Given the description of an element on the screen output the (x, y) to click on. 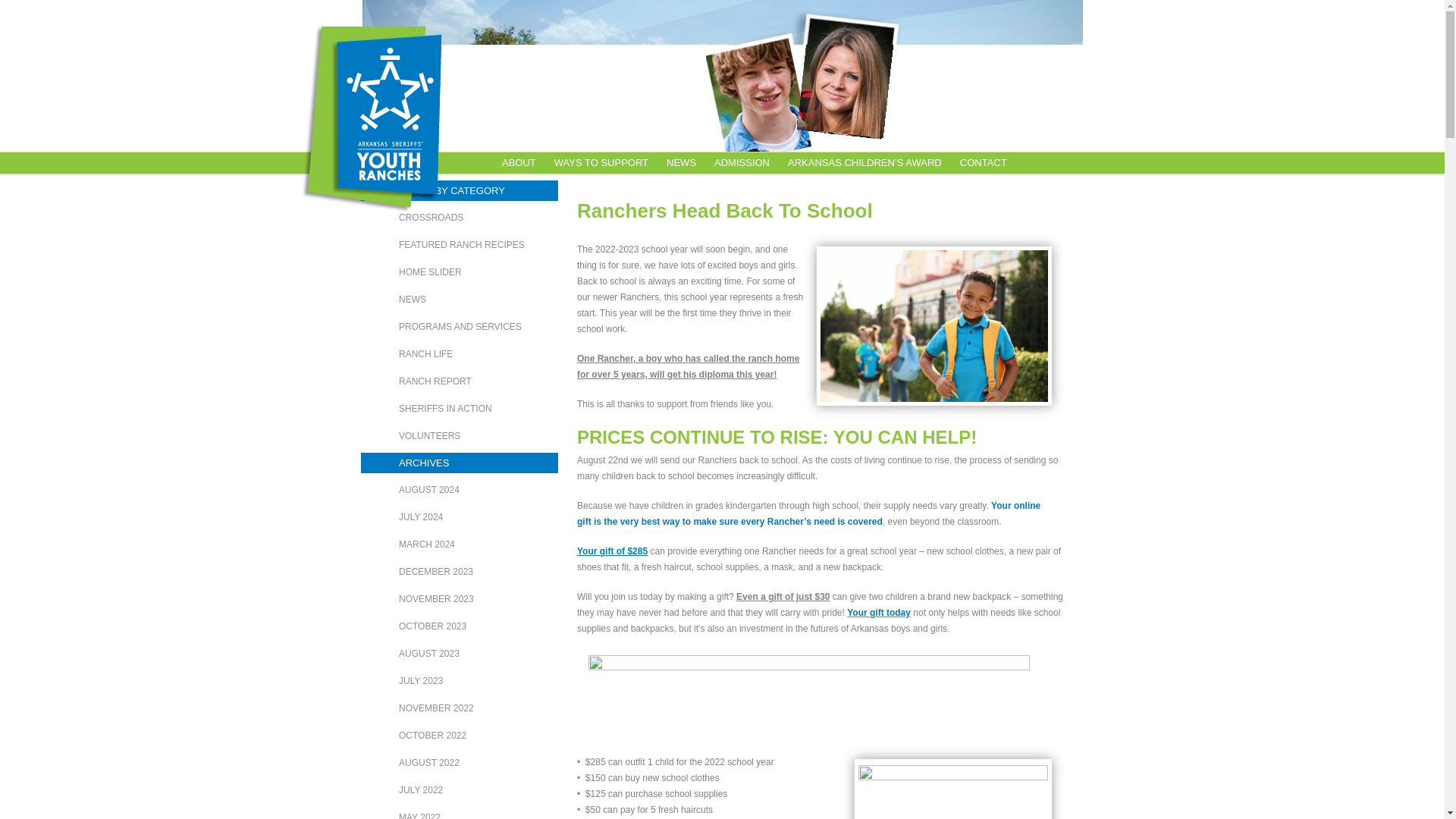
MARCH 2024 (459, 544)
WAYS TO SUPPORT (601, 162)
ABOUT (518, 162)
ADMISSION (741, 162)
AUGUST 2022 (459, 762)
AUGUST 2024 (459, 489)
JULY 2023 (459, 680)
OCTOBER 2022 (459, 735)
NOVEMBER 2023 (459, 598)
JULY 2024 (459, 516)
